Given the description of an element on the screen output the (x, y) to click on. 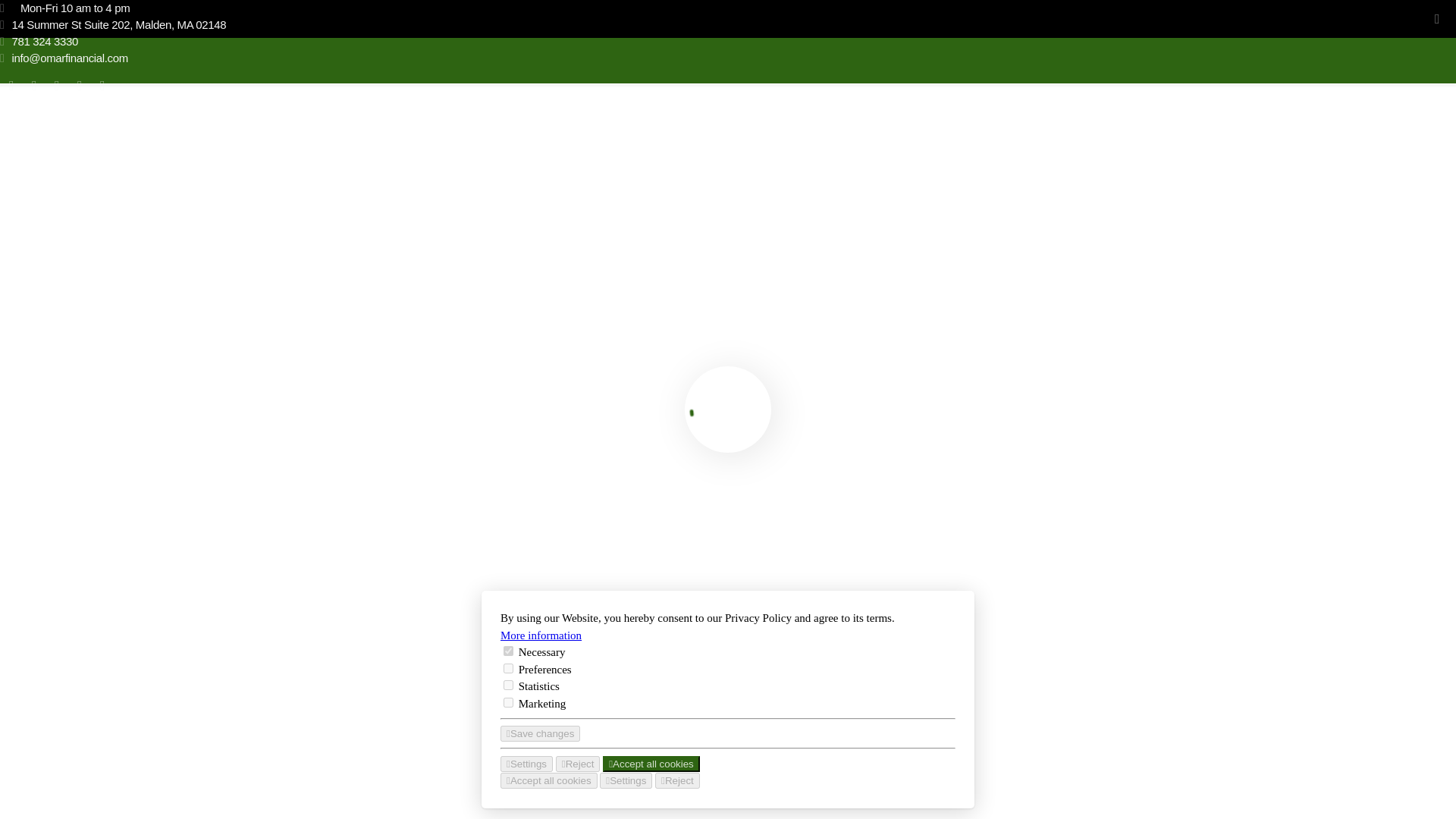
Child tax credit (43, 565)
More information (540, 634)
Read more (37, 644)
on (508, 684)
on (508, 701)
781 324 3330 (492, 41)
on (508, 651)
Dependent (111, 565)
Who can I claim as a dependent? (185, 533)
on (508, 667)
My Blog (34, 174)
Family (159, 565)
14 Summer St Suite 202, Malden, MA 02148 (492, 24)
